Given the description of an element on the screen output the (x, y) to click on. 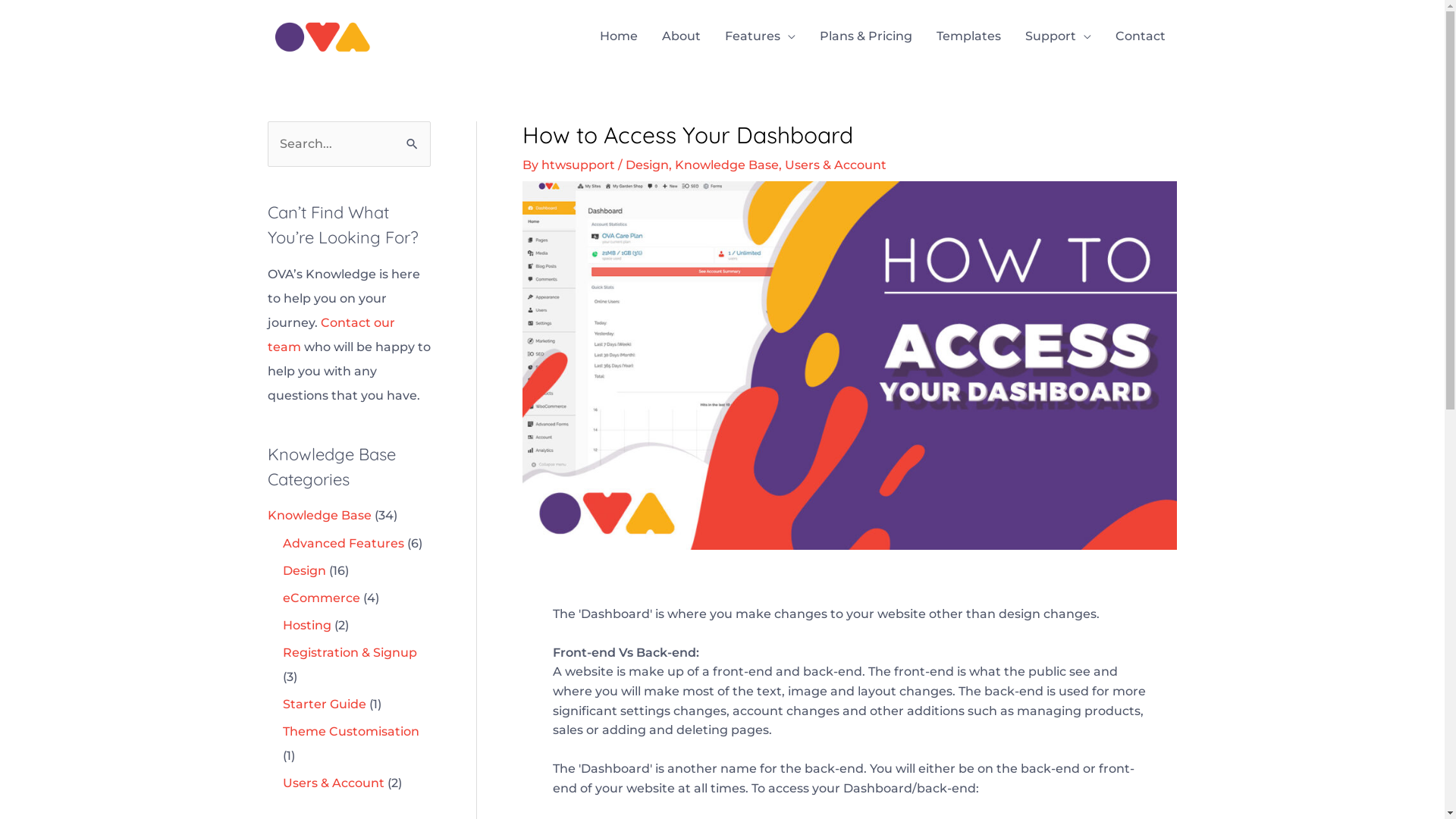
Contact Element type: text (1139, 36)
Contact our team Element type: text (330, 334)
Support Element type: text (1058, 36)
About Element type: text (680, 36)
Home Element type: text (617, 36)
Advanced Features Element type: text (342, 543)
Registration & Signup Element type: text (349, 652)
Users & Account Element type: text (834, 164)
Search Element type: text (412, 137)
Features Element type: text (759, 36)
Theme Customisation Element type: text (350, 731)
eCommerce Element type: text (320, 597)
Knowledge Base Element type: text (318, 515)
Design Element type: text (646, 164)
Users & Account Element type: text (332, 782)
Starter Guide Element type: text (323, 703)
Knowledge Base Element type: text (726, 164)
Templates Element type: text (967, 36)
Plans & Pricing Element type: text (864, 36)
htwsupport Element type: text (579, 164)
Design Element type: text (303, 570)
Hosting Element type: text (306, 625)
